Given the description of an element on the screen output the (x, y) to click on. 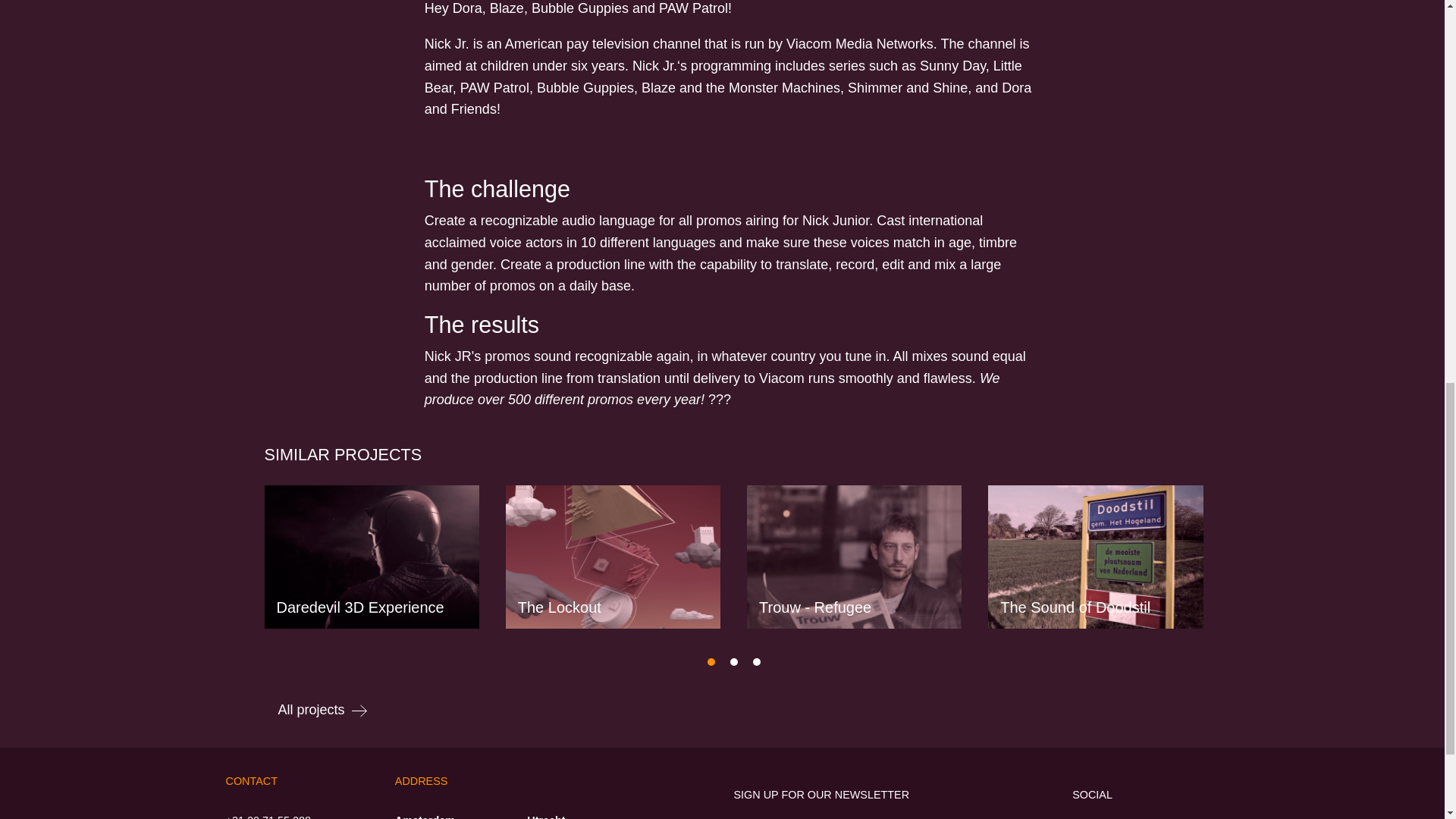
All projects (322, 709)
Daredevil 3D Experience (371, 556)
The Sound of Doodstil (1095, 556)
Trouw - Refugee (853, 556)
The Lockout (612, 556)
